Given the description of an element on the screen output the (x, y) to click on. 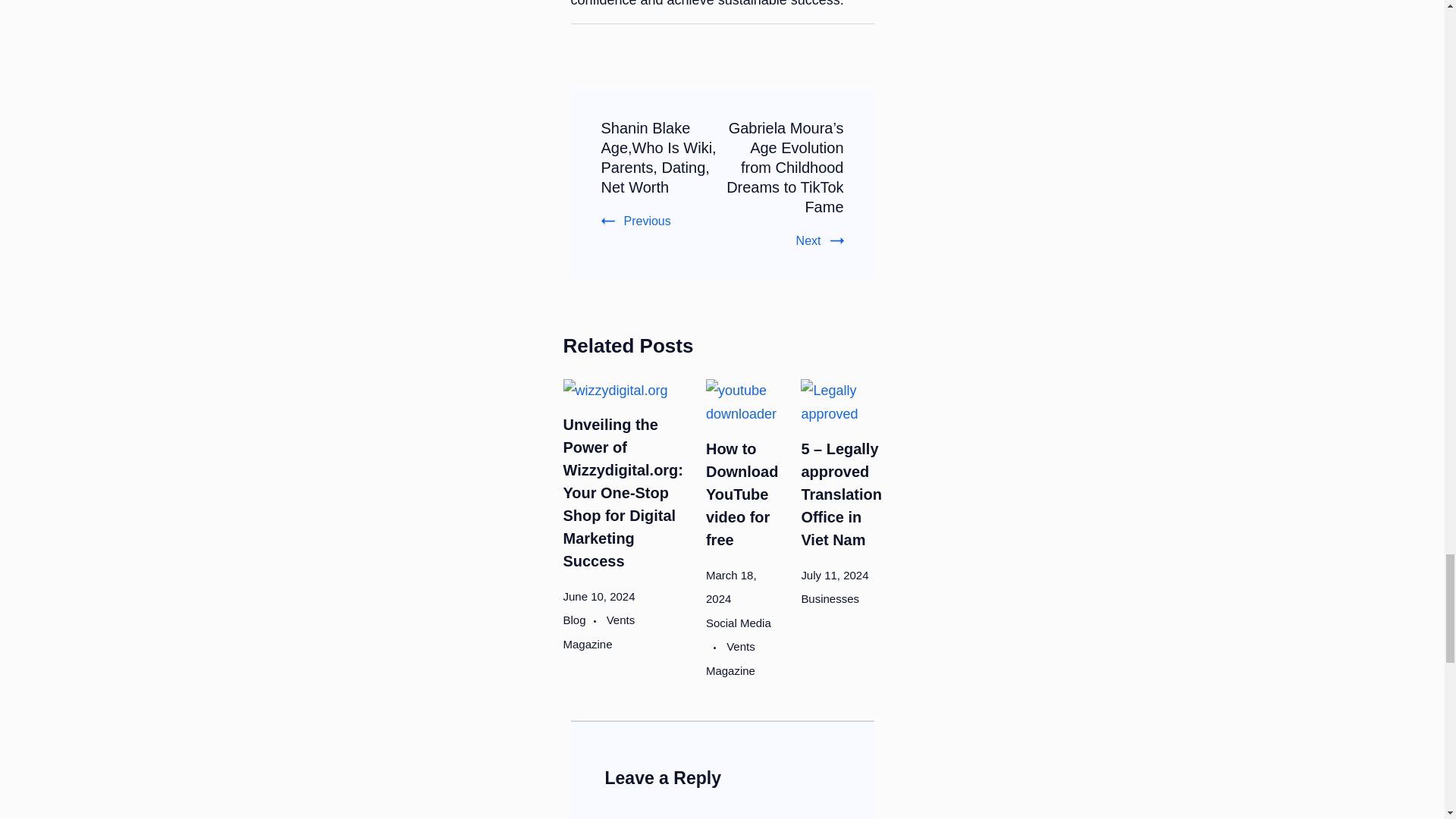
Shanin Blake Age,Who Is Wiki, Parents, Dating, Net Worth (657, 157)
Vents Magazine (598, 631)
Previous (634, 220)
Blog (582, 619)
Next (820, 240)
